Given the description of an element on the screen output the (x, y) to click on. 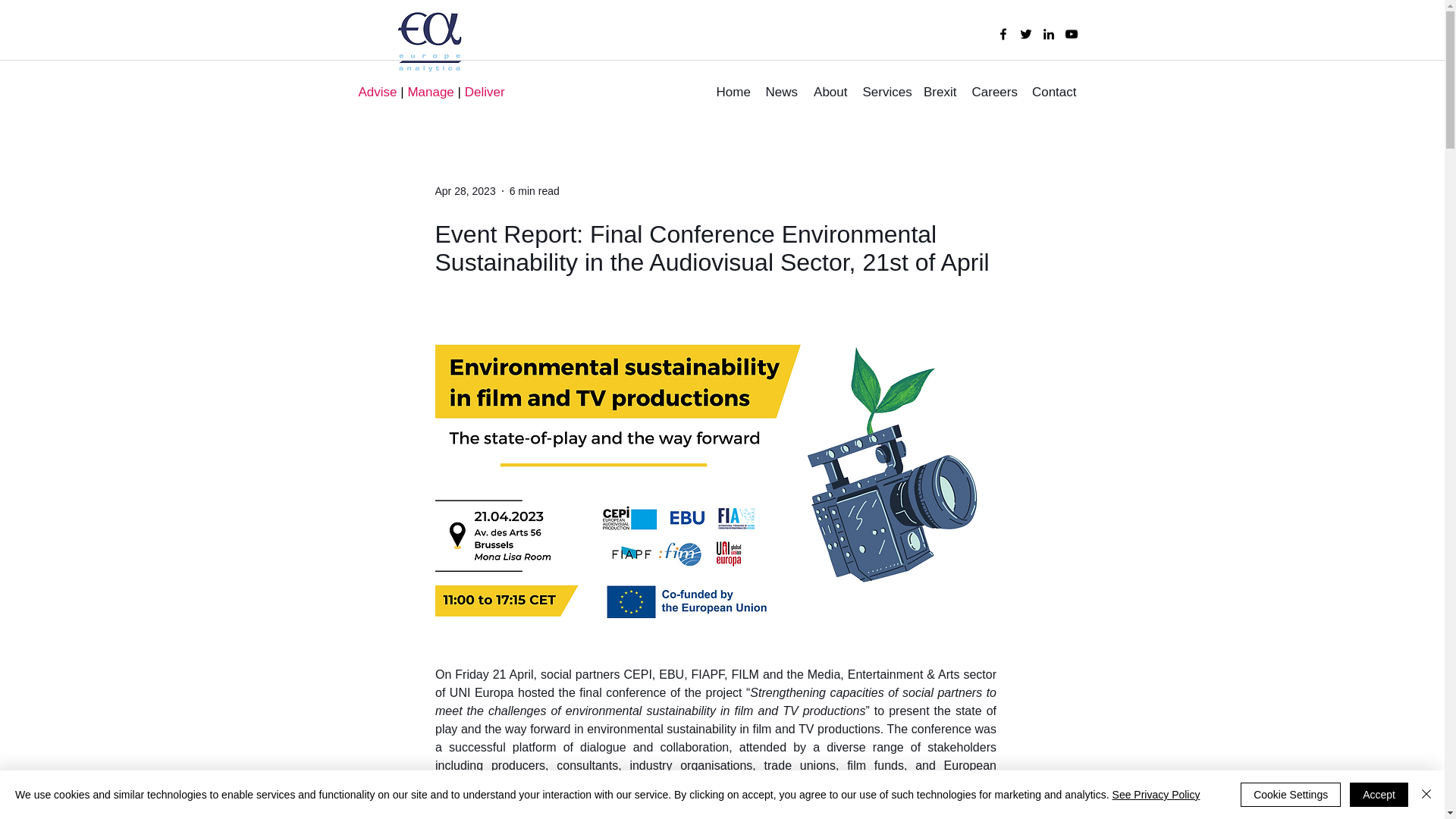
Home (732, 92)
Services (885, 92)
Brexit (939, 92)
About (828, 92)
Careers (993, 92)
See Privacy Policy (1155, 794)
Cookie Settings (1290, 794)
Contact (1053, 92)
6 min read (534, 191)
Apr 28, 2023 (465, 191)
News (781, 92)
Accept (1378, 794)
